Given the description of an element on the screen output the (x, y) to click on. 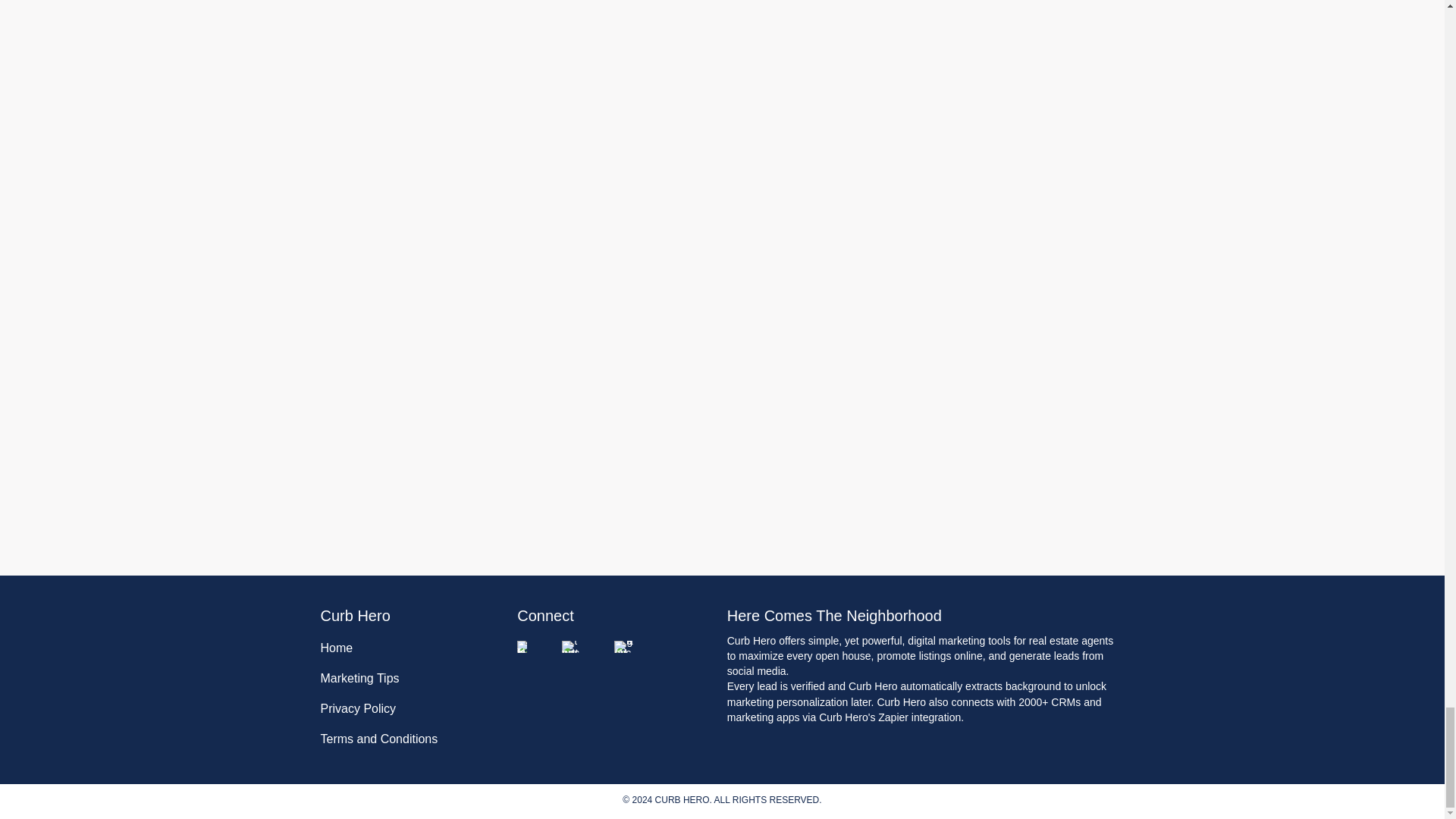
twittericon (571, 645)
